Given the description of an element on the screen output the (x, y) to click on. 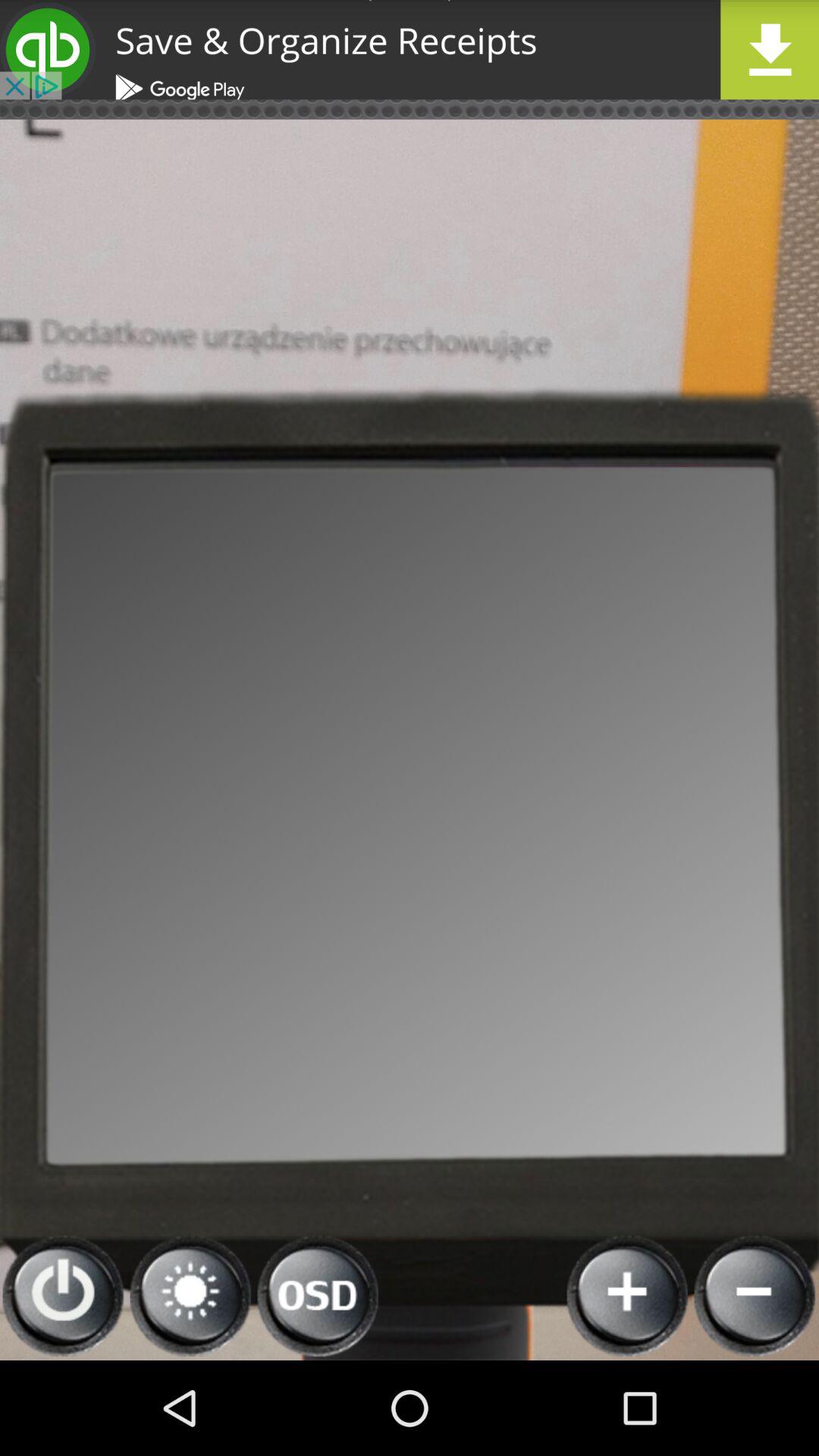
change brightness (190, 1296)
